Given the description of an element on the screen output the (x, y) to click on. 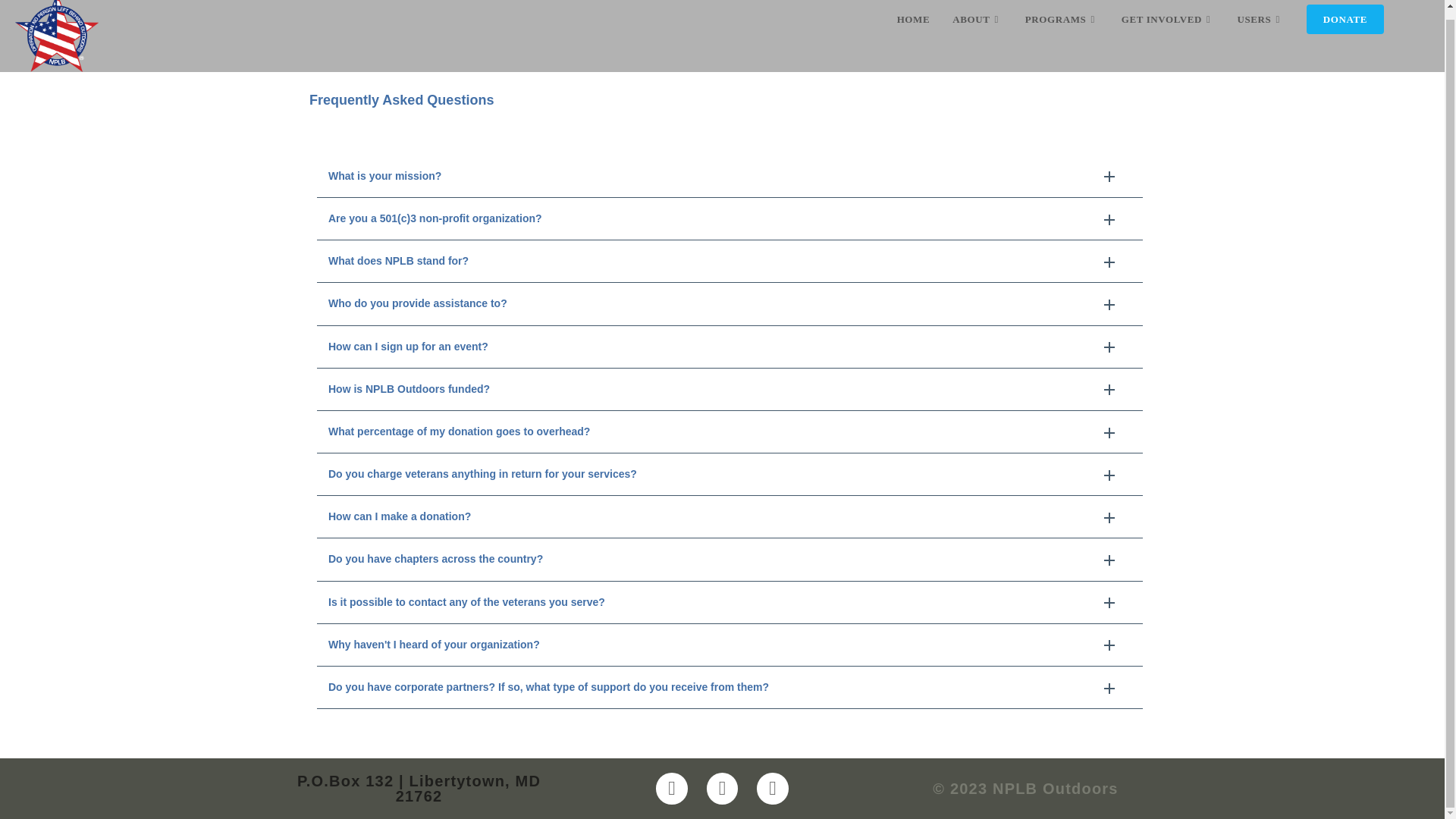
DONATE (1344, 23)
PROGRAMS (1061, 23)
HOME (913, 23)
USERS (1259, 23)
ABOUT (976, 23)
GET INVOLVED (1167, 23)
